Given the description of an element on the screen output the (x, y) to click on. 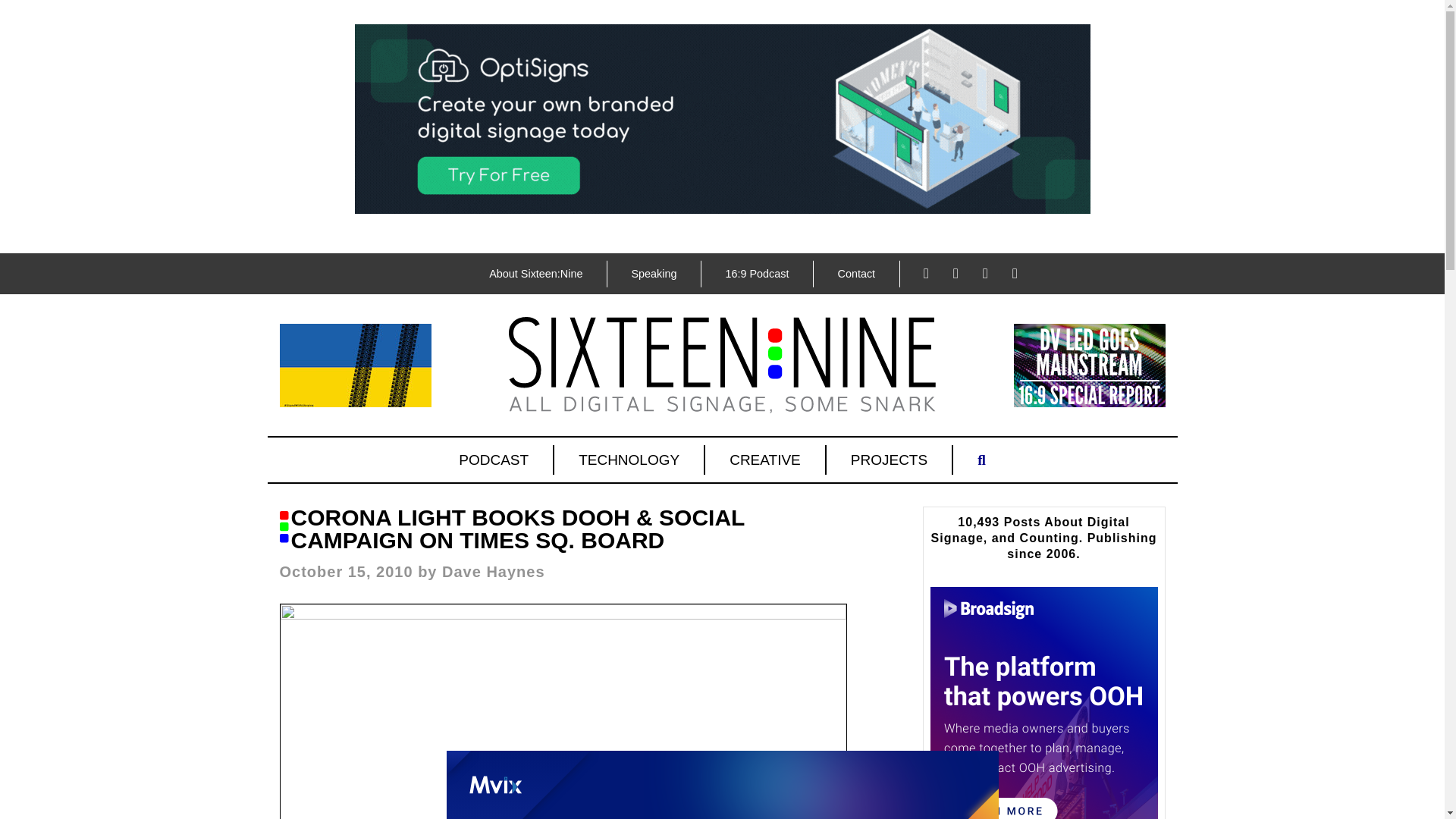
Speaking (653, 273)
PODCAST (493, 460)
16:9 Podcast (756, 273)
corona-facebook-timessq (562, 711)
PROJECTS (890, 460)
Contact (855, 273)
CREATIVE (765, 460)
About Sixteen:Nine (535, 273)
TECHNOLOGY (629, 460)
